Given the description of an element on the screen output the (x, y) to click on. 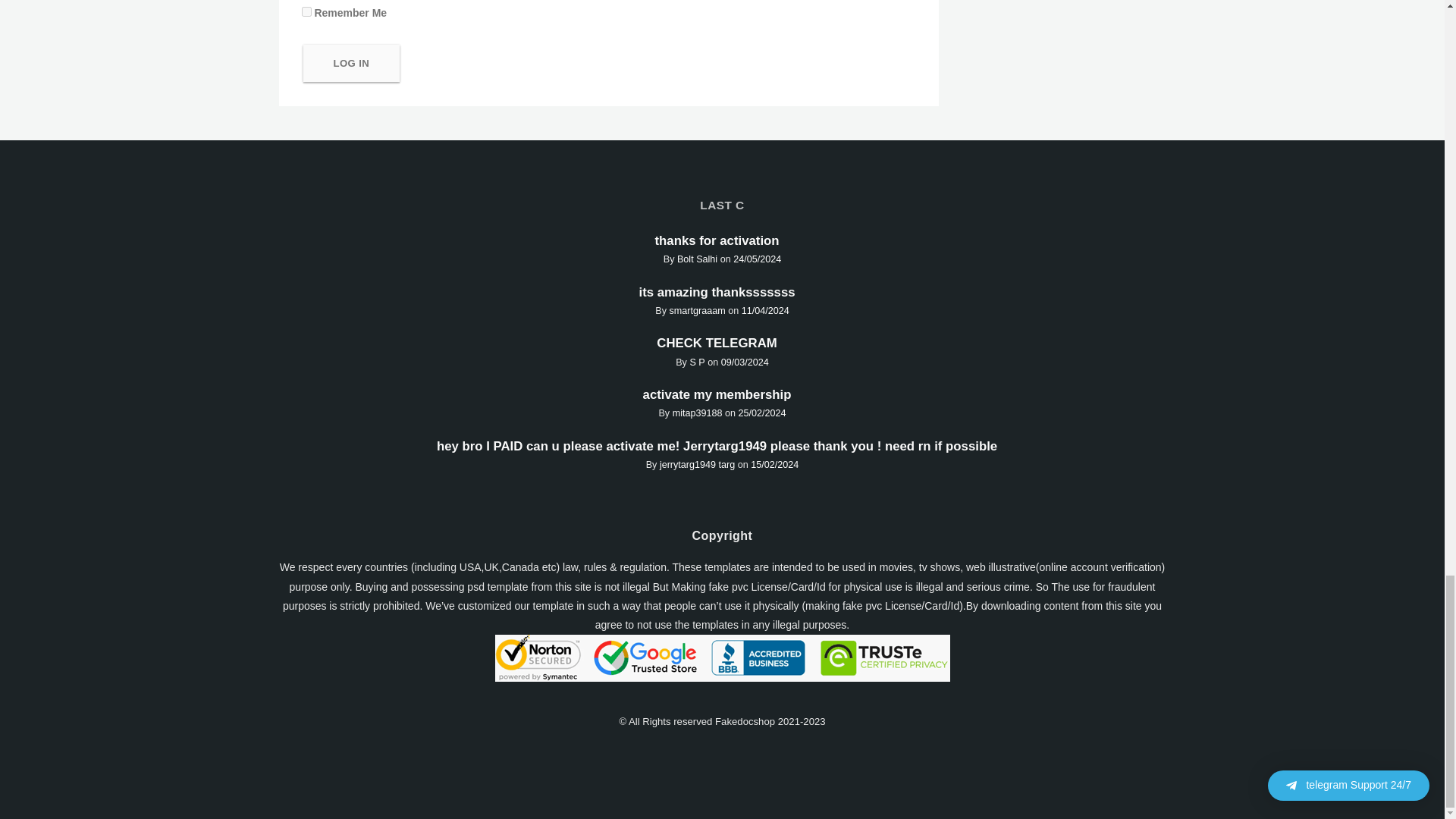
Log In (351, 63)
forever (306, 11)
